Given the description of an element on the screen output the (x, y) to click on. 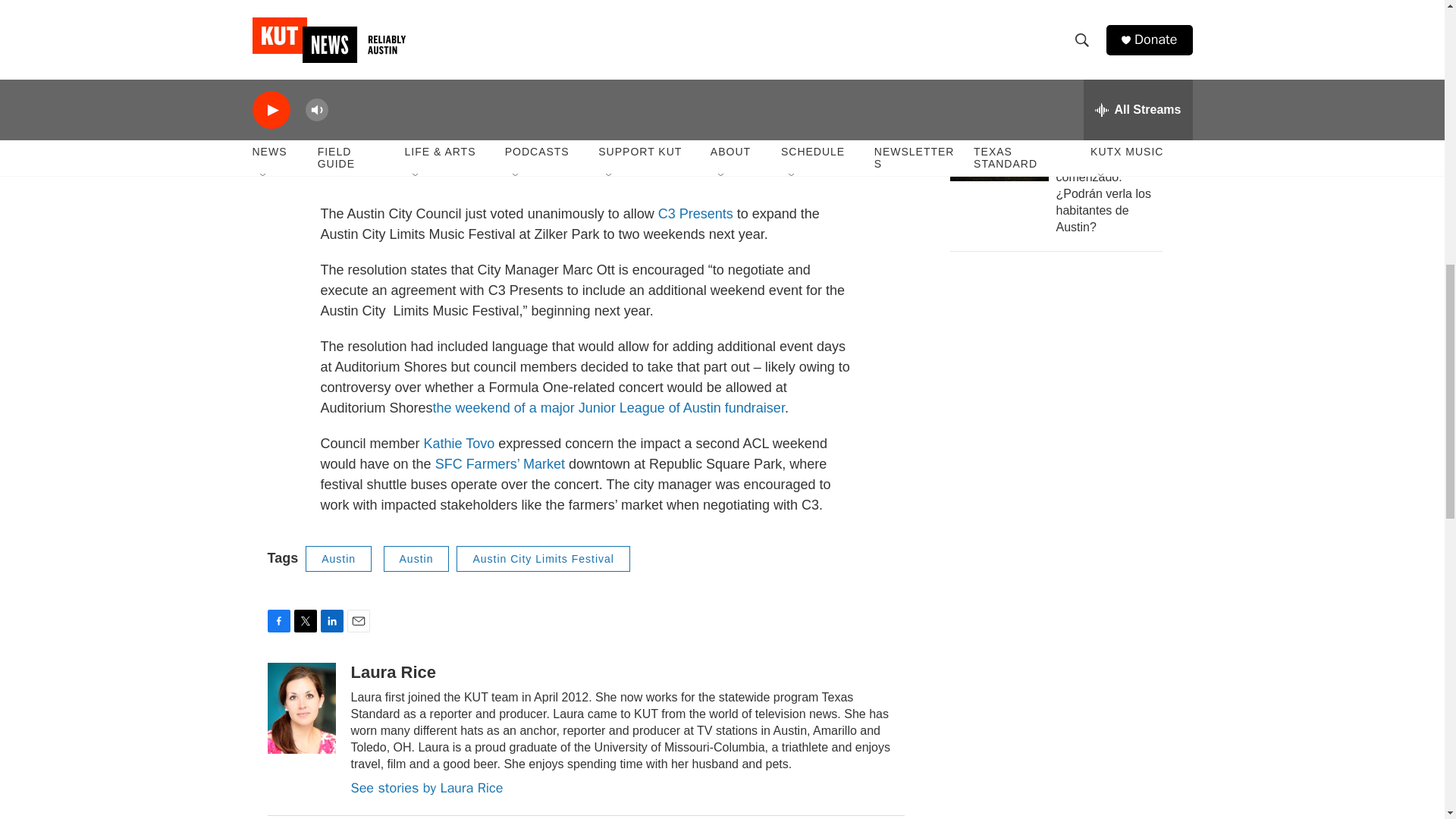
3rd party ad content (1062, 596)
3rd party ad content (1062, 376)
